Given the description of an element on the screen output the (x, y) to click on. 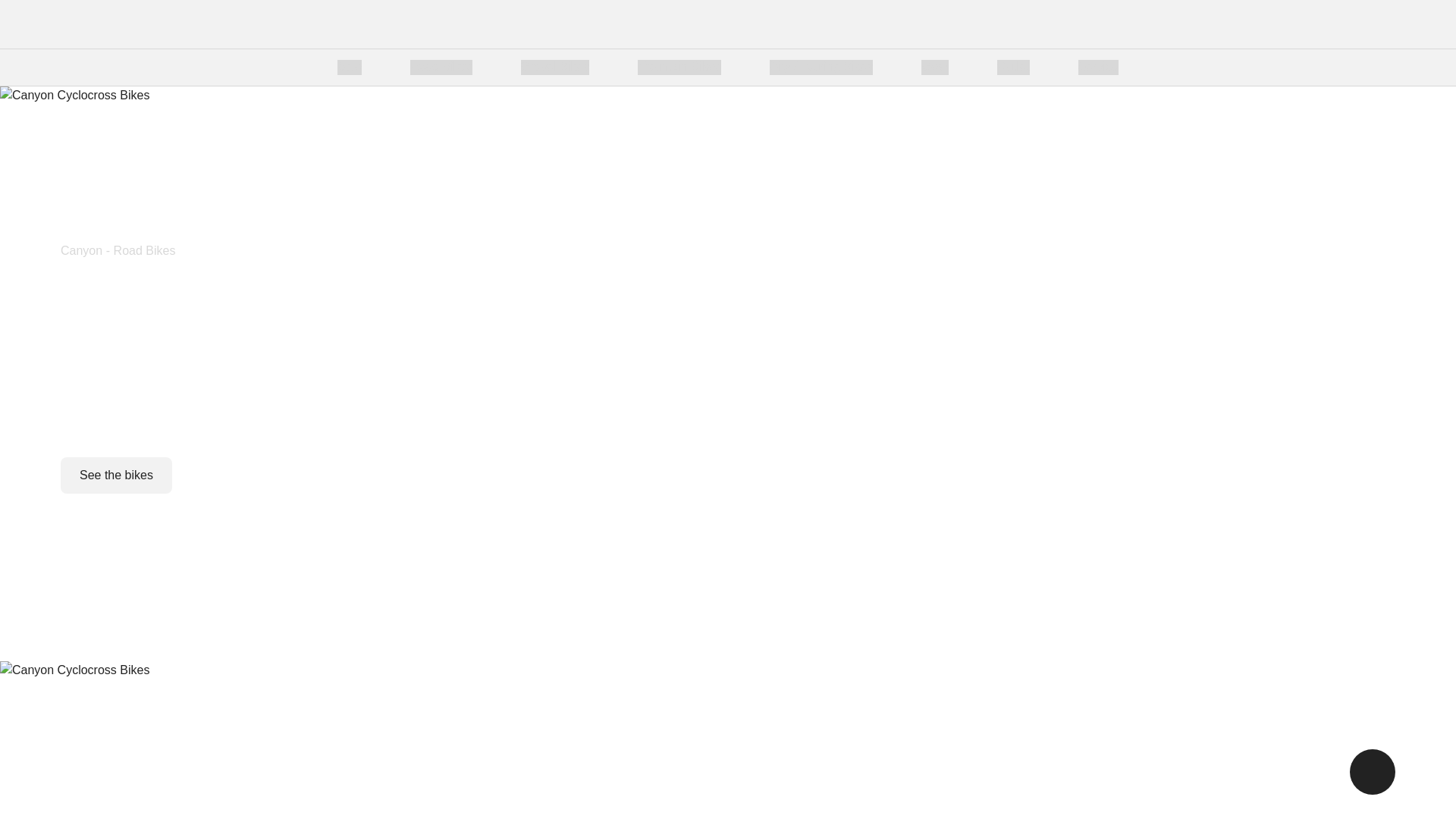
Continue below (727, 612)
Mountain Bikes (678, 67)
Canyon (297, 23)
Sale (349, 67)
Gravel Bikes (555, 67)
Road Bikes (440, 67)
Reasons to Choose Canyon (714, 67)
